Given the description of an element on the screen output the (x, y) to click on. 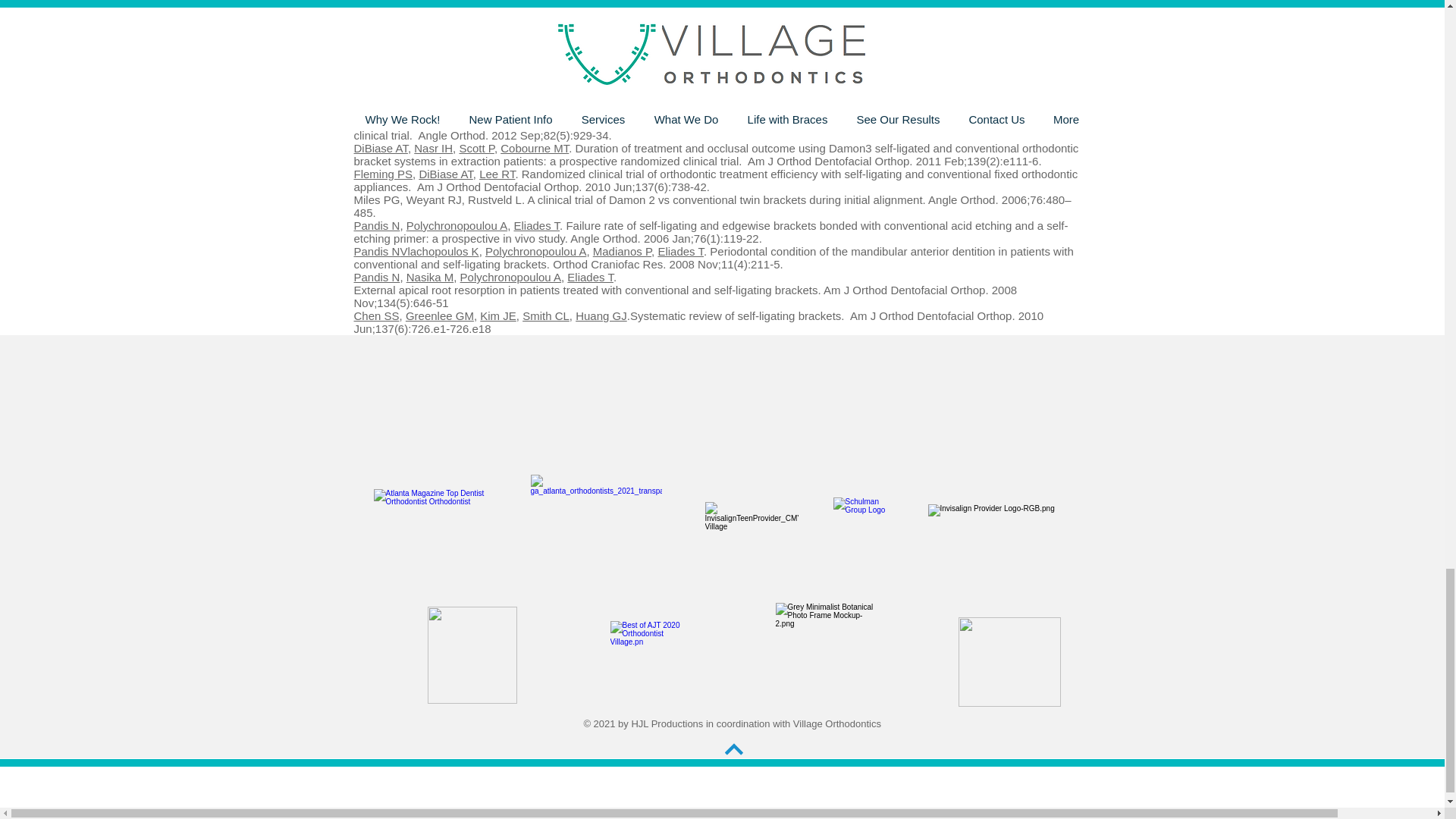
Grey Minimalist Botanical Photo Frame Mo (1009, 661)
Atack NE (484, 31)
Best of Jewish Times Atlanta Dr Freedman (651, 661)
Village Orthodontics Top Dentist Atlnta (440, 526)
Best of 2019 Expertise.com Orthodontist (596, 527)
Village Ortho Schulman Member (862, 527)
Grey Minimalist Botanical Photo Frame Mo (472, 654)
Ewings P (536, 31)
Clover M (431, 31)
Songra G (377, 31)
